Given the description of an element on the screen output the (x, y) to click on. 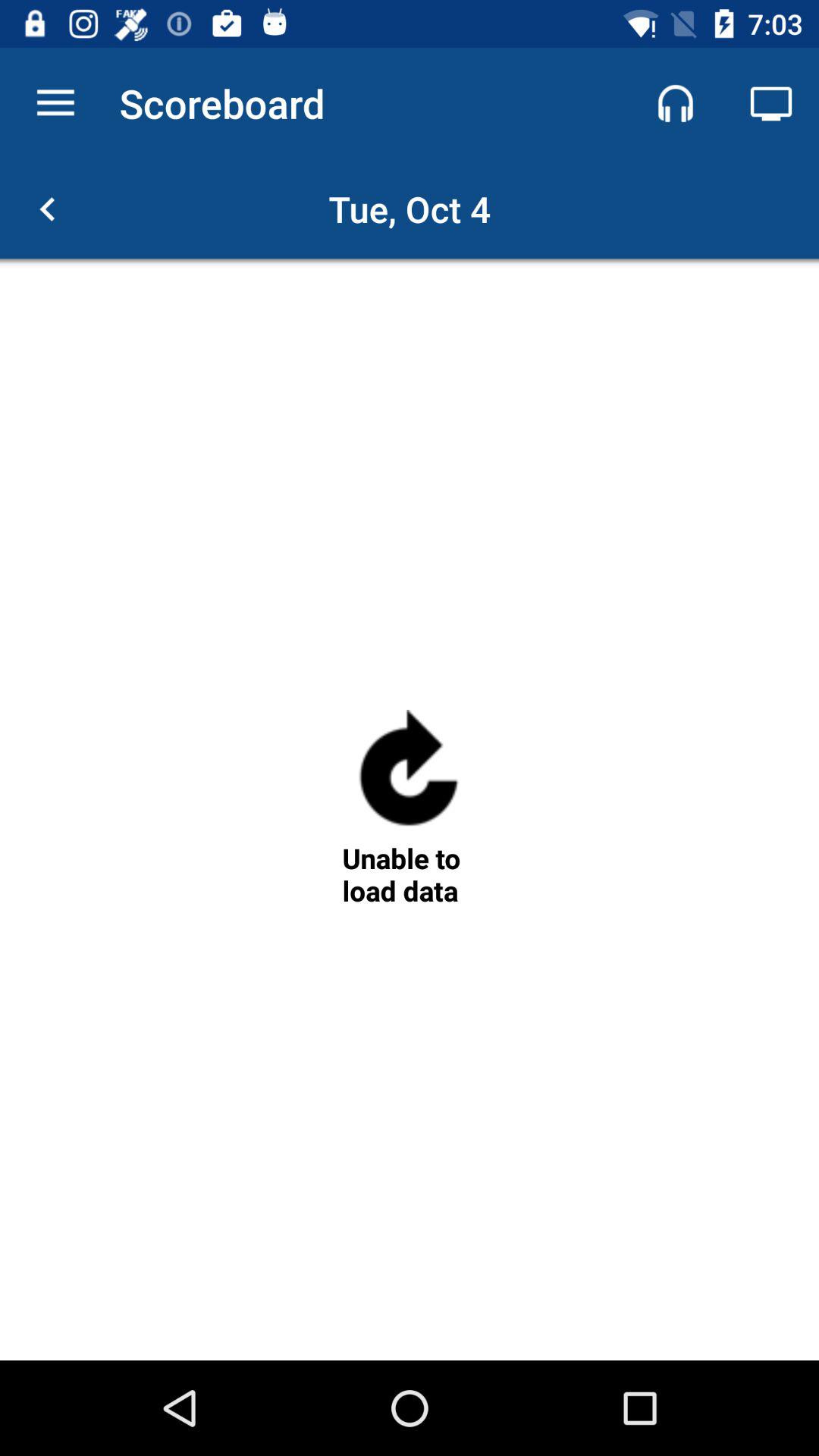
jump until unable to load item (409, 874)
